Given the description of an element on the screen output the (x, y) to click on. 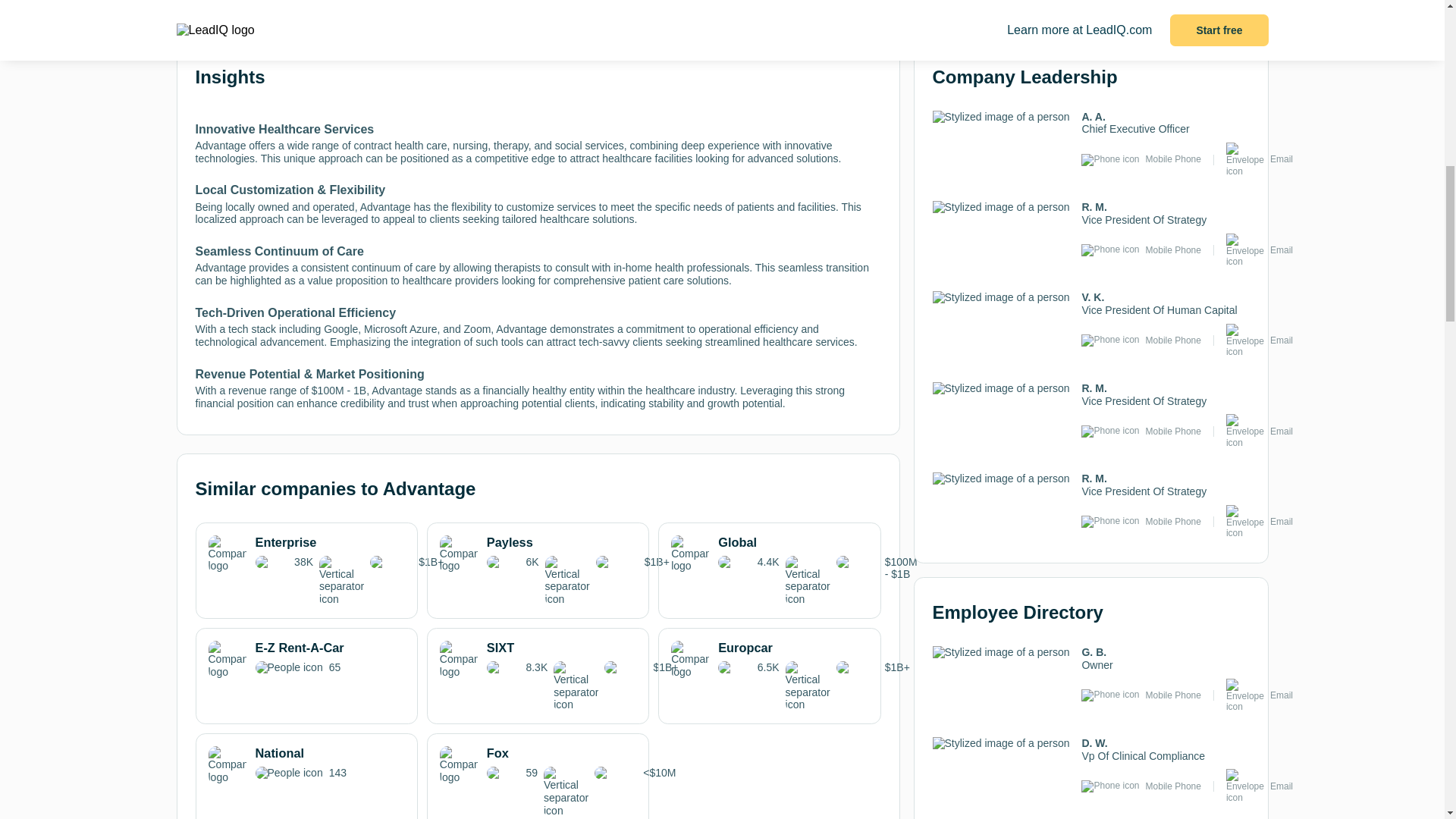
Similar companies (357, 11)
Tech Stack (476, 4)
Email (1280, 158)
FAQ (838, 4)
Insights (236, 4)
Mobile Phone (1173, 158)
Email (1280, 249)
Mobile Phone (306, 659)
